Given the description of an element on the screen output the (x, y) to click on. 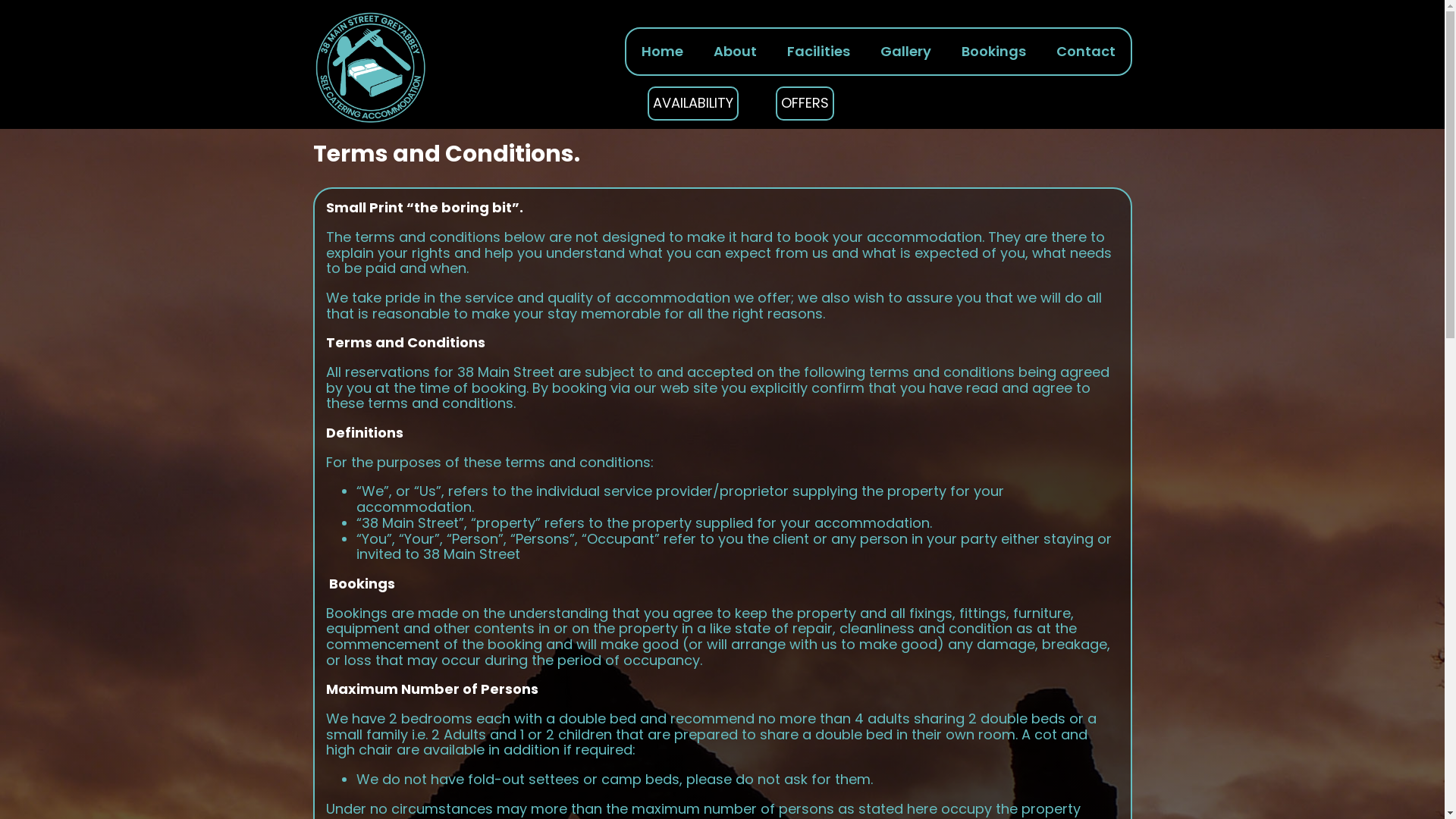
AVAILABILITY Element type: text (692, 103)
Gallery Element type: text (904, 51)
Contact Element type: text (1084, 51)
Facilities Element type: text (818, 51)
OFFERS Element type: text (804, 103)
About Element type: text (734, 51)
Home Element type: text (662, 51)
Bookings Element type: text (993, 51)
